Given the description of an element on the screen output the (x, y) to click on. 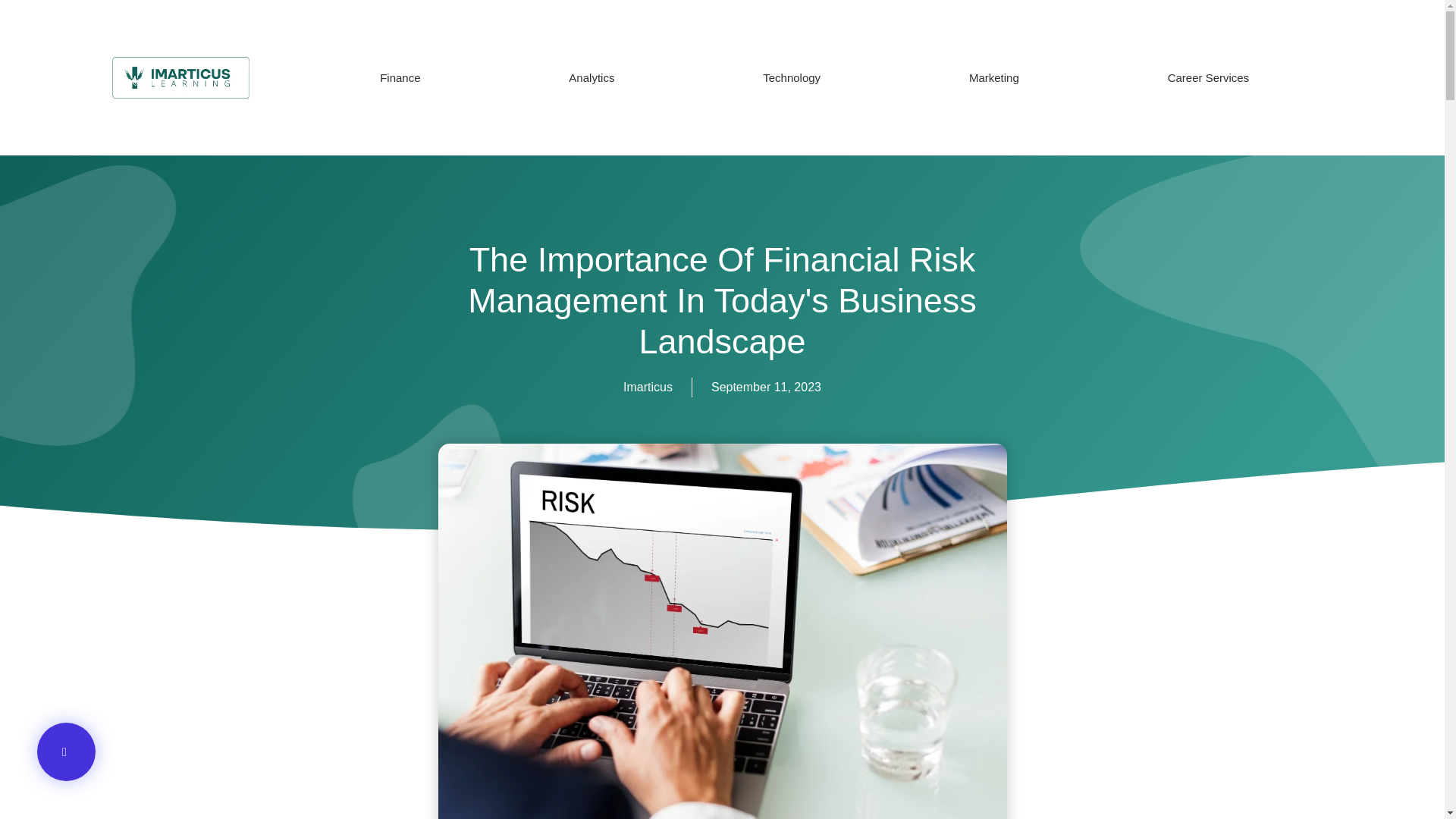
Marketing (994, 77)
Technology (791, 77)
Analytics (591, 77)
September 11, 2023 (766, 387)
Finance (400, 77)
Career Services (1208, 77)
Imarticus (647, 387)
